Given the description of an element on the screen output the (x, y) to click on. 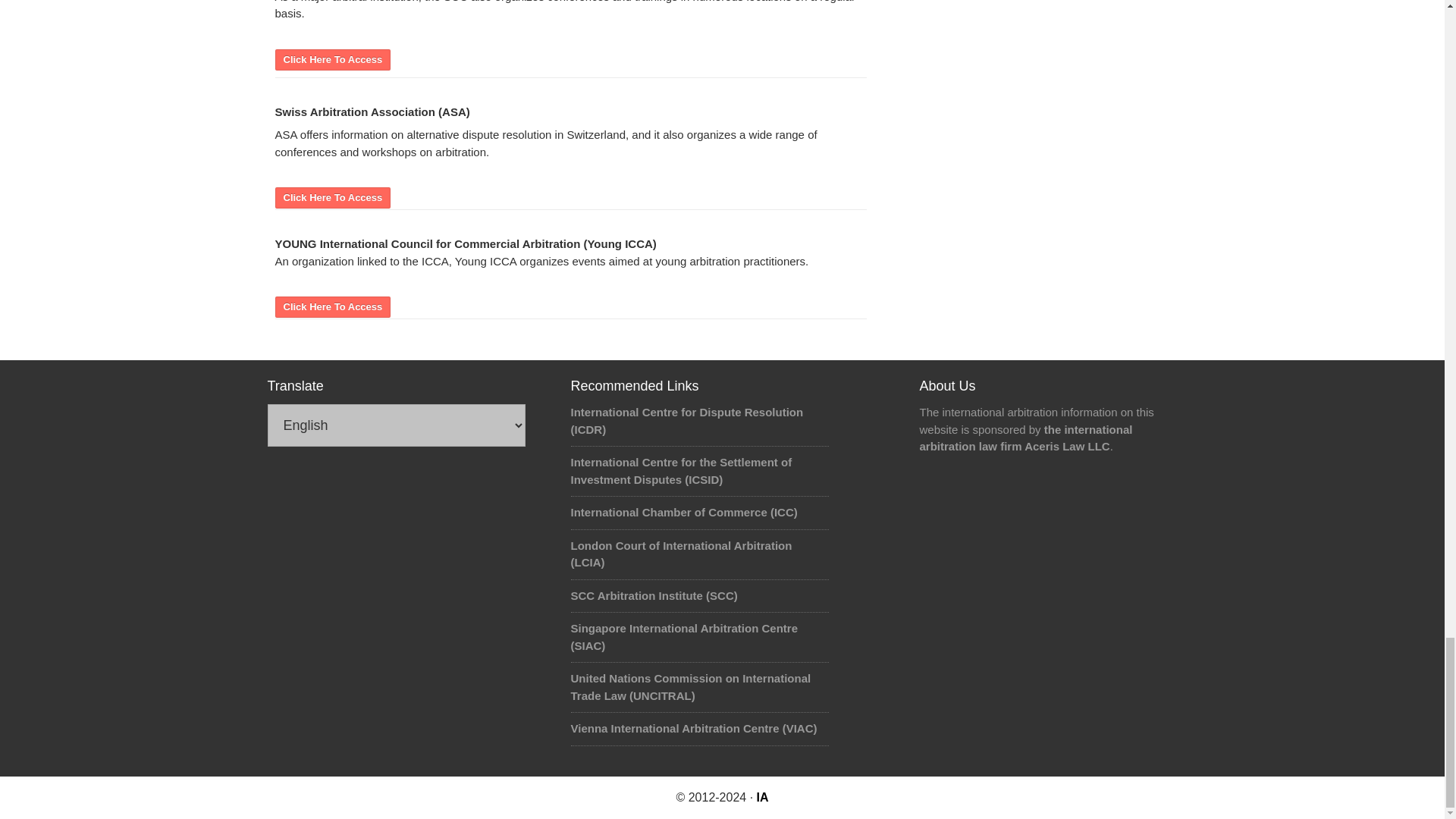
Click Here To Access (332, 57)
Click Here To Access (332, 305)
Click Here To Access (332, 57)
Click Here To Access (332, 196)
